Given the description of an element on the screen output the (x, y) to click on. 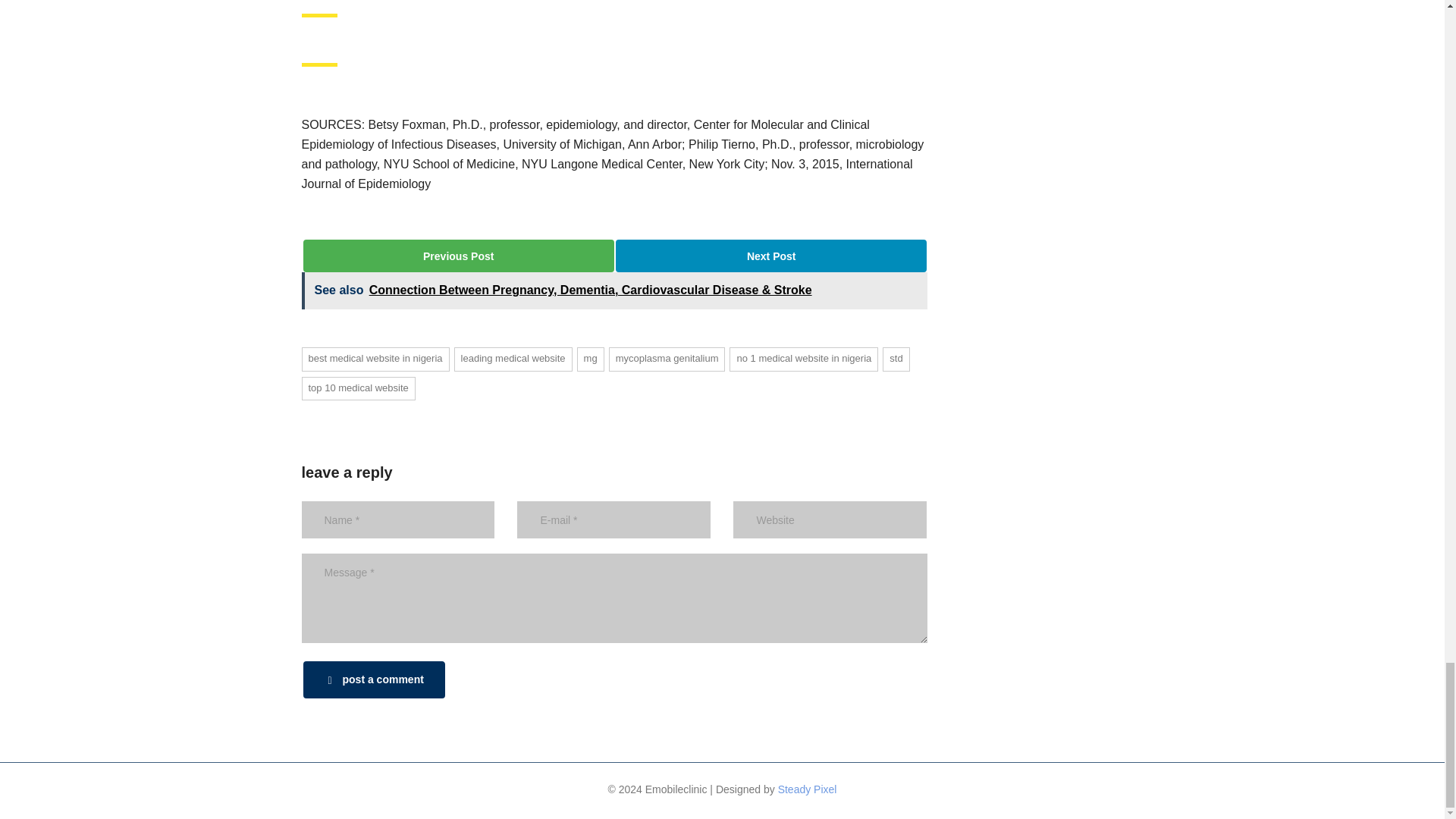
Previous Post (458, 255)
top 10 medical website (357, 388)
leading medical website (513, 359)
post a comment (373, 679)
best medical website in nigeria (375, 359)
Next Post (771, 255)
Next Post (770, 255)
no 1 medical website in nigeria (803, 359)
Previous Post (458, 255)
std (895, 359)
mycoplasma genitalium (666, 359)
mg (590, 359)
